Given the description of an element on the screen output the (x, y) to click on. 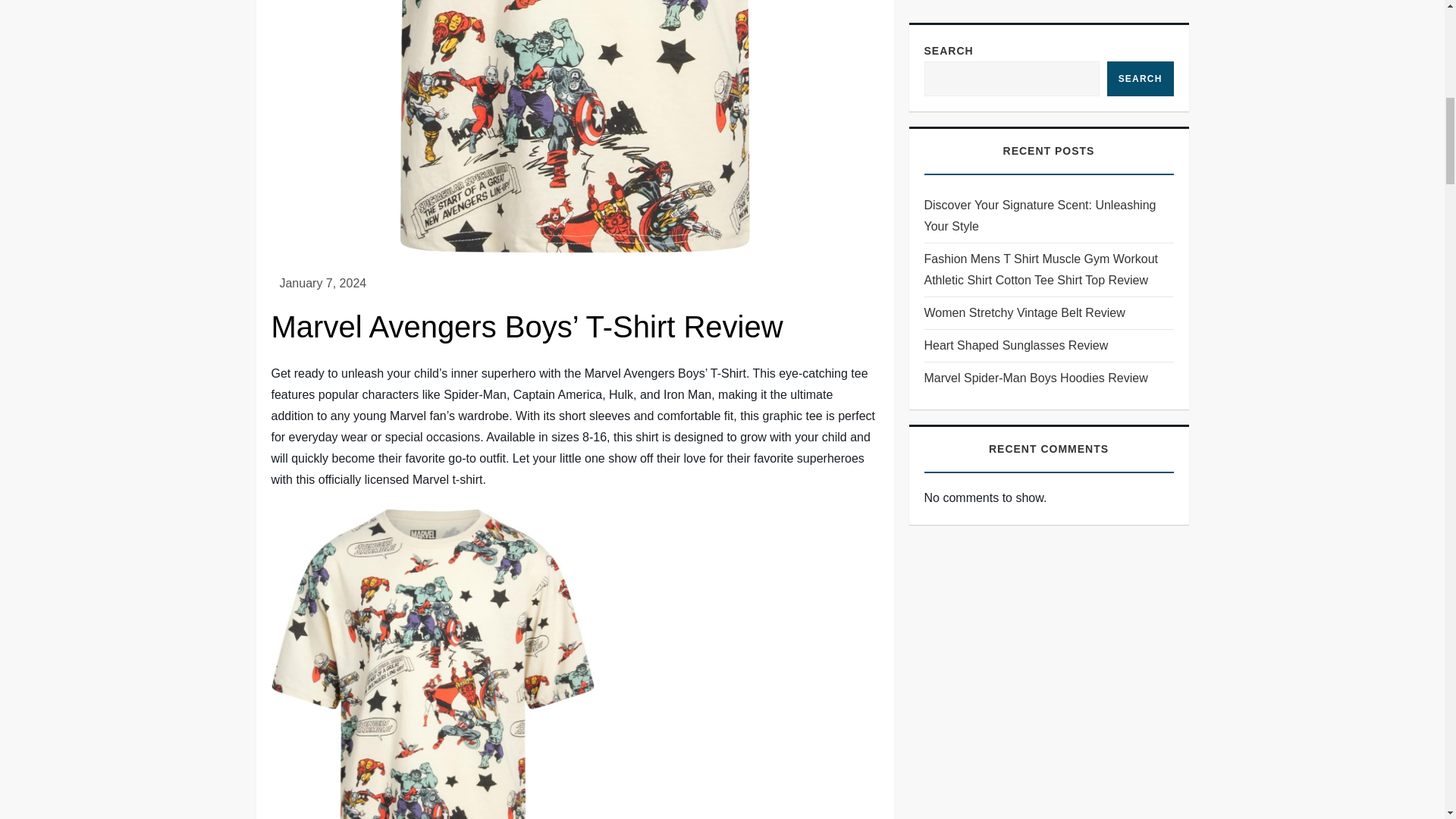
January 7, 2024 (322, 282)
